Given the description of an element on the screen output the (x, y) to click on. 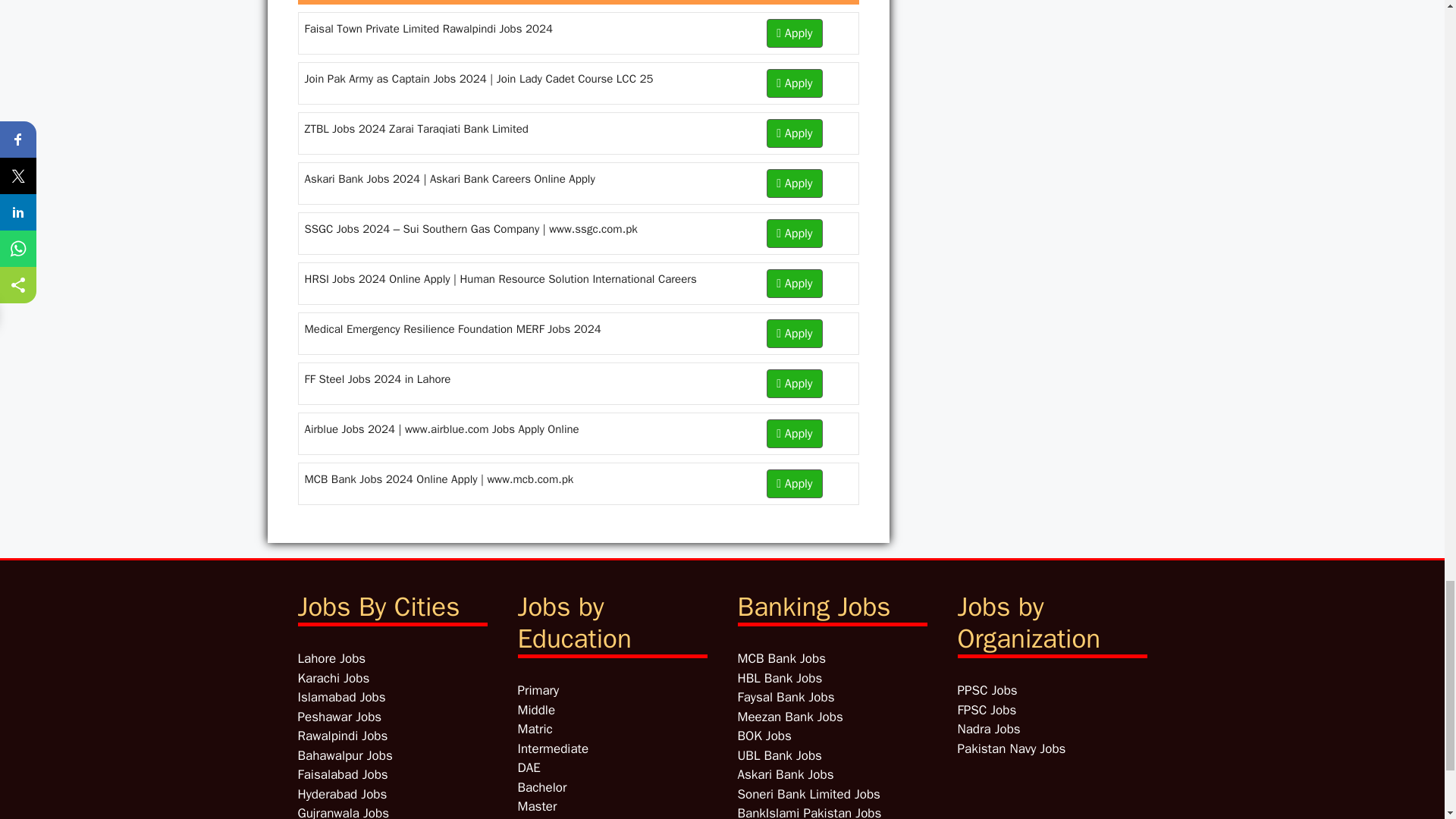
Apply (794, 133)
Jobs in Islamabad (341, 697)
Apply (794, 383)
ZTBL Jobs 2024 Zarai Taraqiati Bank Limited (416, 128)
Jobs in Lahore (331, 658)
Apply (794, 183)
Apply (794, 283)
Apply (794, 32)
Medical Emergency Resilience Foundation MERF Jobs 2024 (452, 328)
Jobs in Peshawar (339, 716)
Faisal Town Private Limited Rawalpindi Jobs 2024 (428, 29)
Jobs in Karachi (333, 678)
Apply (794, 333)
FF Steel Jobs 2024 in Lahore (377, 378)
Apply (794, 233)
